Given the description of an element on the screen output the (x, y) to click on. 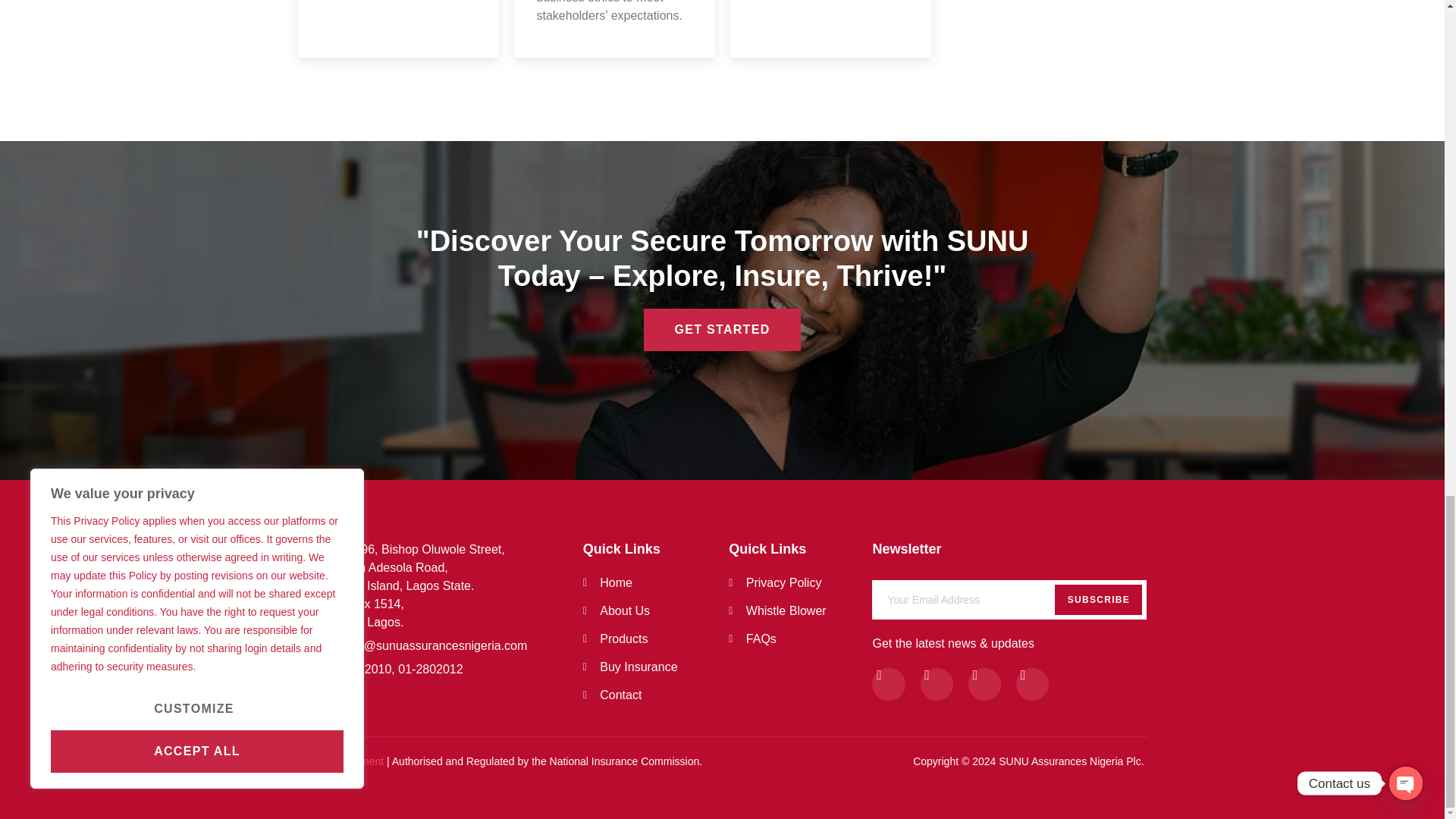
Quick Links (656, 548)
SUBSCRIBE (1009, 596)
Quick Links (788, 548)
Newsletter (1009, 548)
GET STARTED (656, 638)
